Given the description of an element on the screen output the (x, y) to click on. 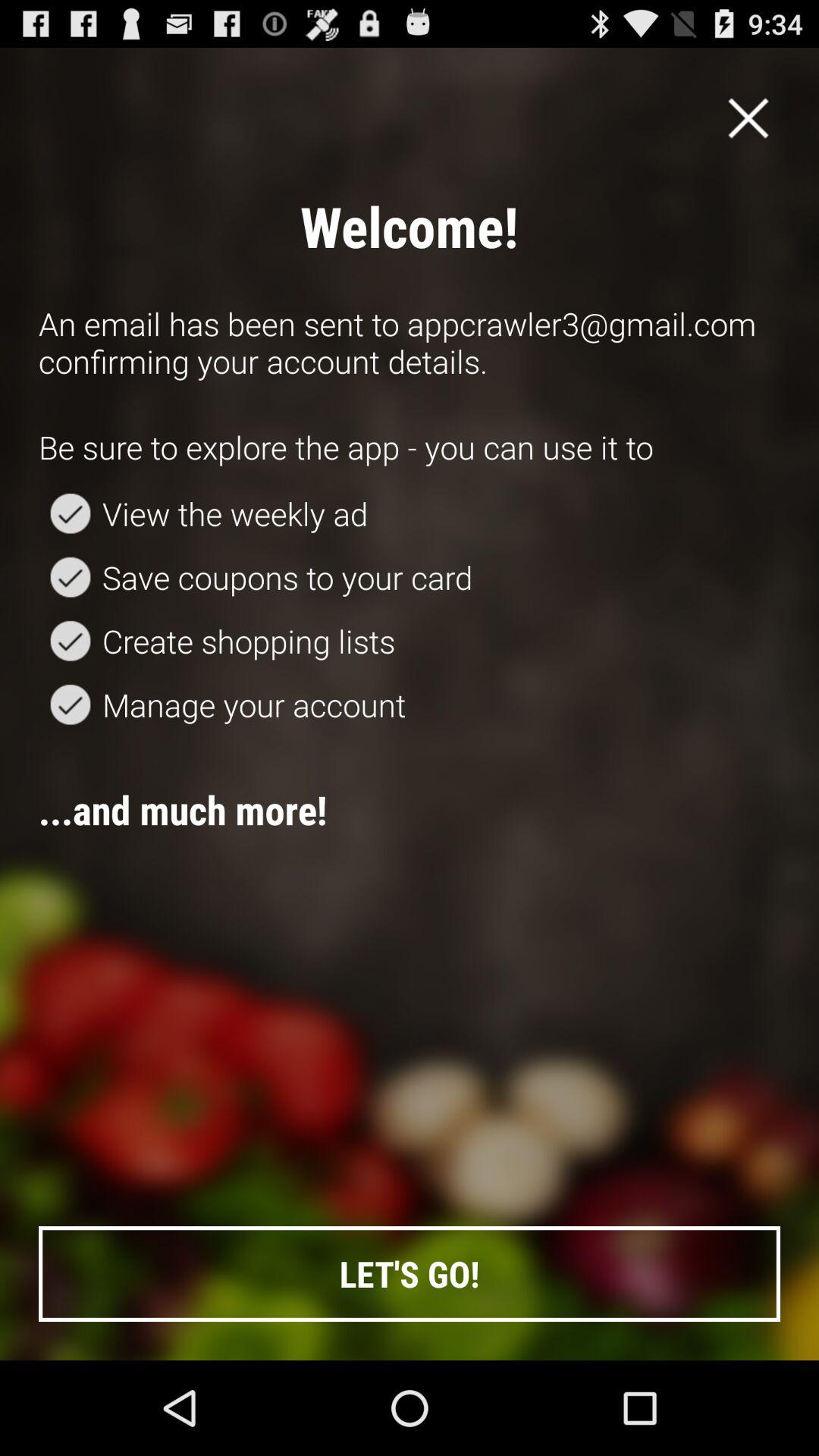
close message (748, 118)
